Given the description of an element on the screen output the (x, y) to click on. 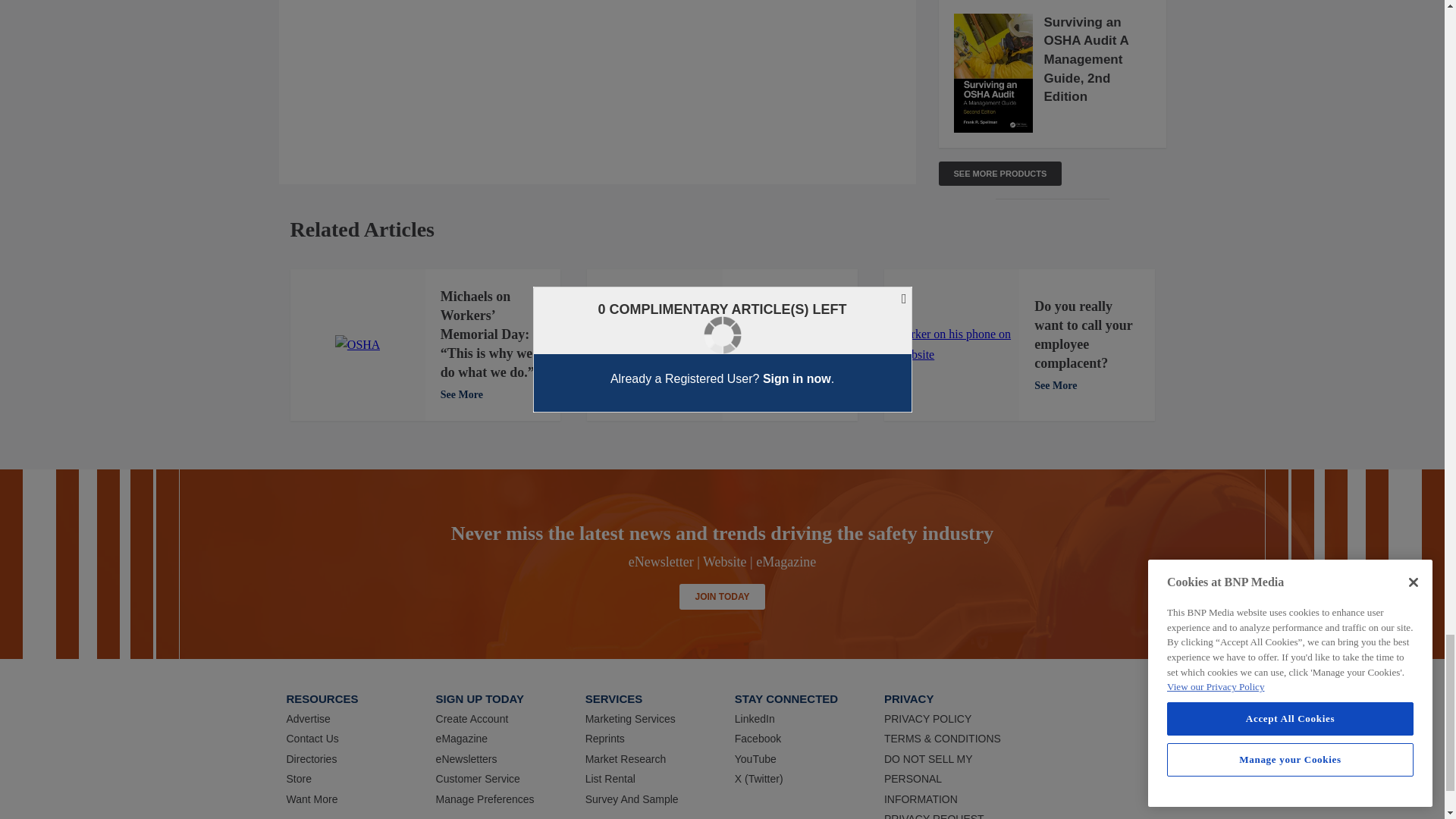
worker on his phone on the jobsite (951, 344)
oshalogo-422px.jpg (357, 344)
heat-outdoor-900.gif (655, 344)
